Given the description of an element on the screen output the (x, y) to click on. 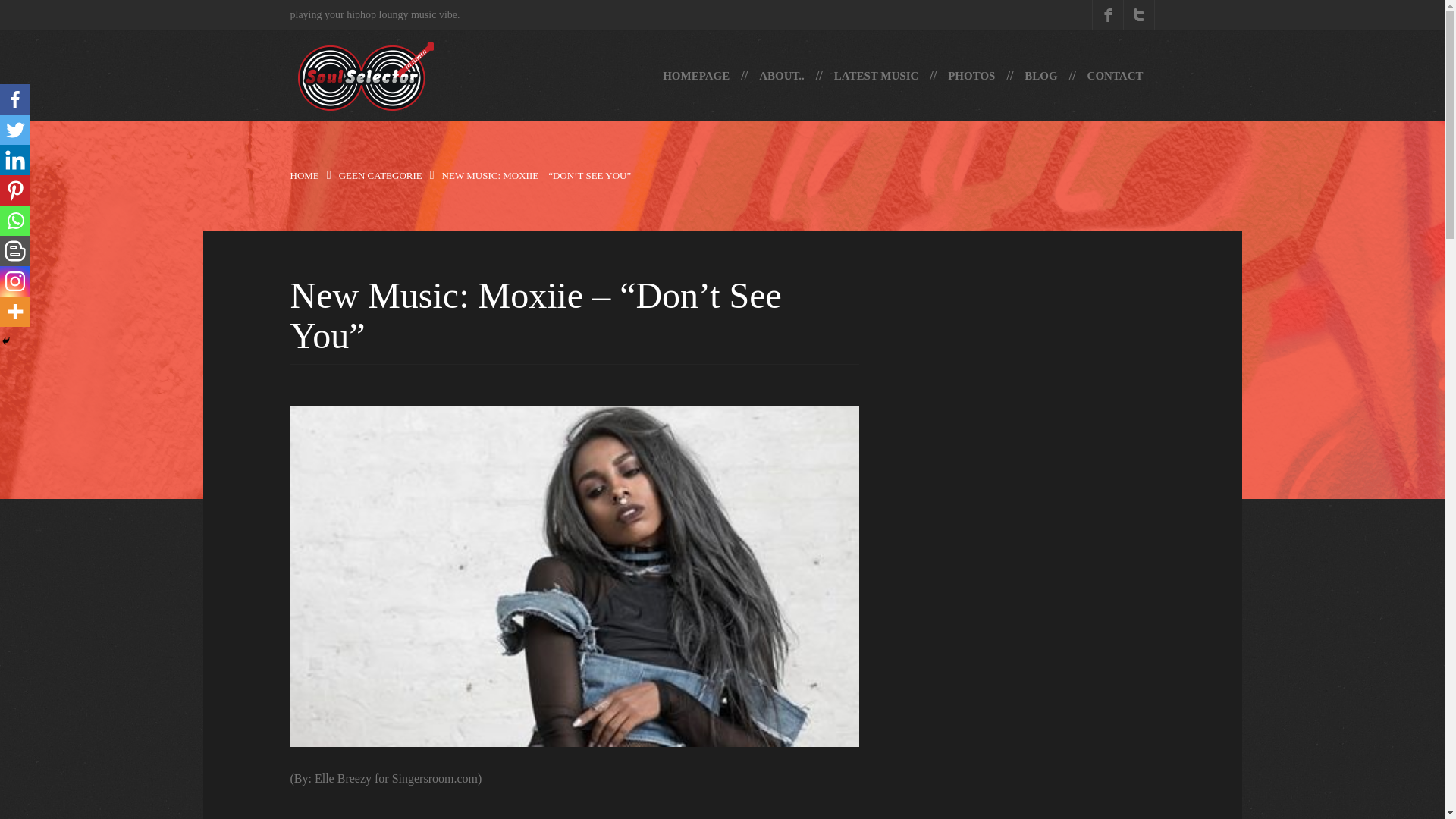
More (15, 311)
Linkedin (15, 159)
GEEN CATEGORIE (380, 174)
ABOUT.. (781, 75)
Instagram (15, 281)
Homepage (695, 75)
Contact (1114, 75)
Whatsapp (15, 220)
PHOTOS (971, 75)
LATEST MUSIC (876, 75)
Latest Music (876, 75)
CONTACT (1114, 75)
About.. (781, 75)
Pinterest (15, 190)
BLOG (1040, 75)
